Given the description of an element on the screen output the (x, y) to click on. 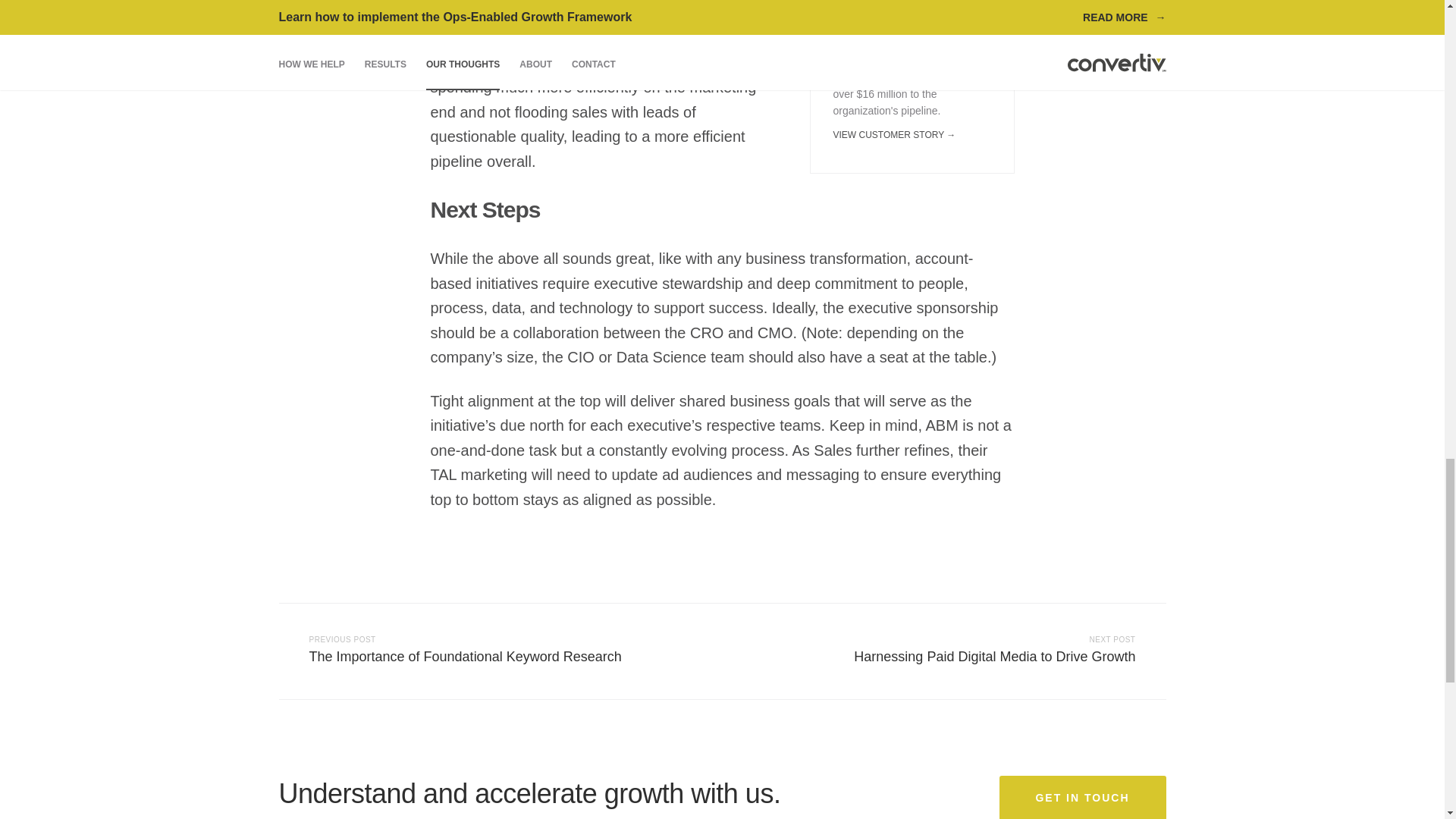
GET IN TOUCH (1004, 651)
